Given the description of an element on the screen output the (x, y) to click on. 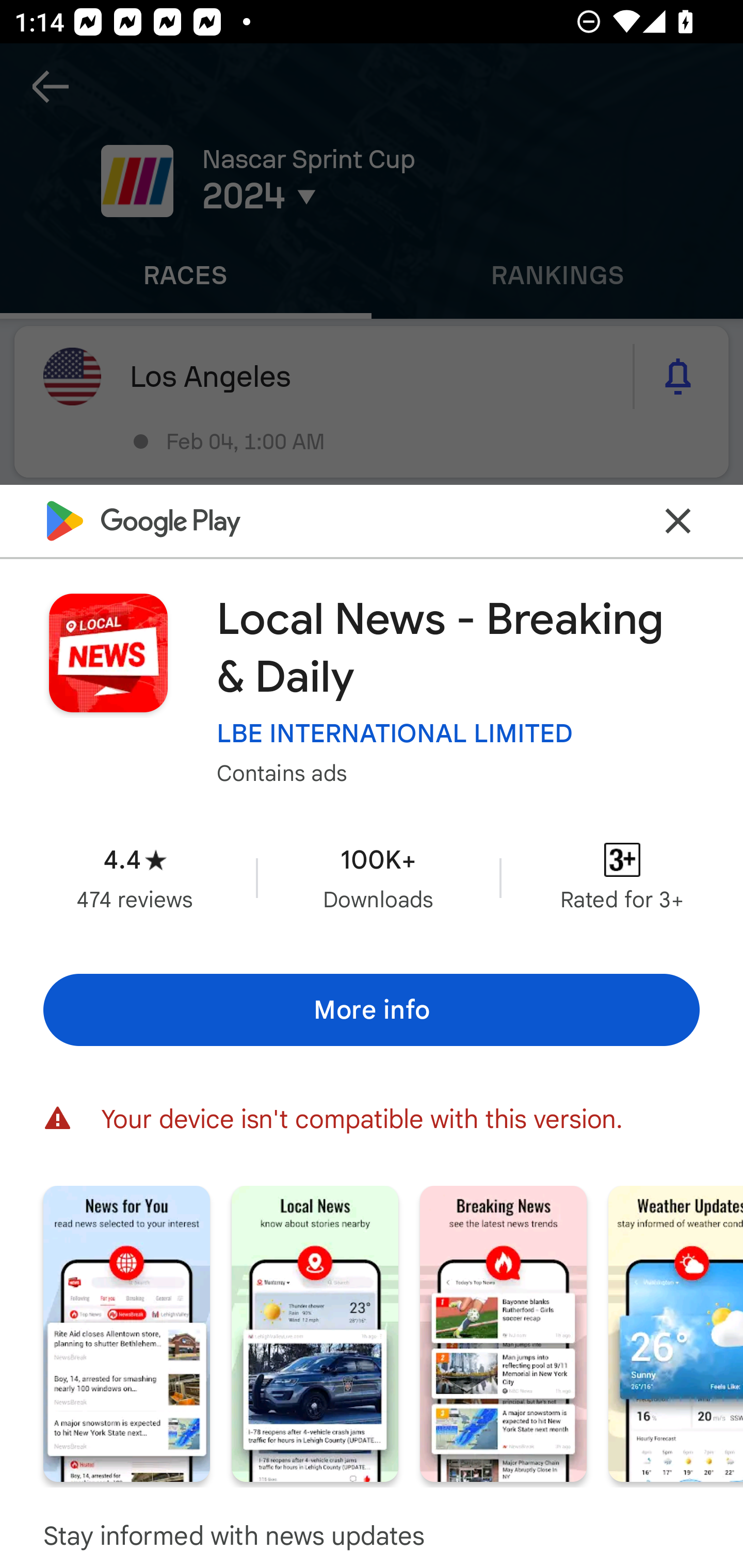
Close (677, 520)
LBE INTERNATIONAL LIMITED (394, 732)
More info (371, 1009)
Screenshot "1" of "4" (126, 1333)
Screenshot "2" of "4" (314, 1333)
Screenshot "3" of "4" (502, 1333)
Screenshot "4" of "4" (675, 1333)
